Given the description of an element on the screen output the (x, y) to click on. 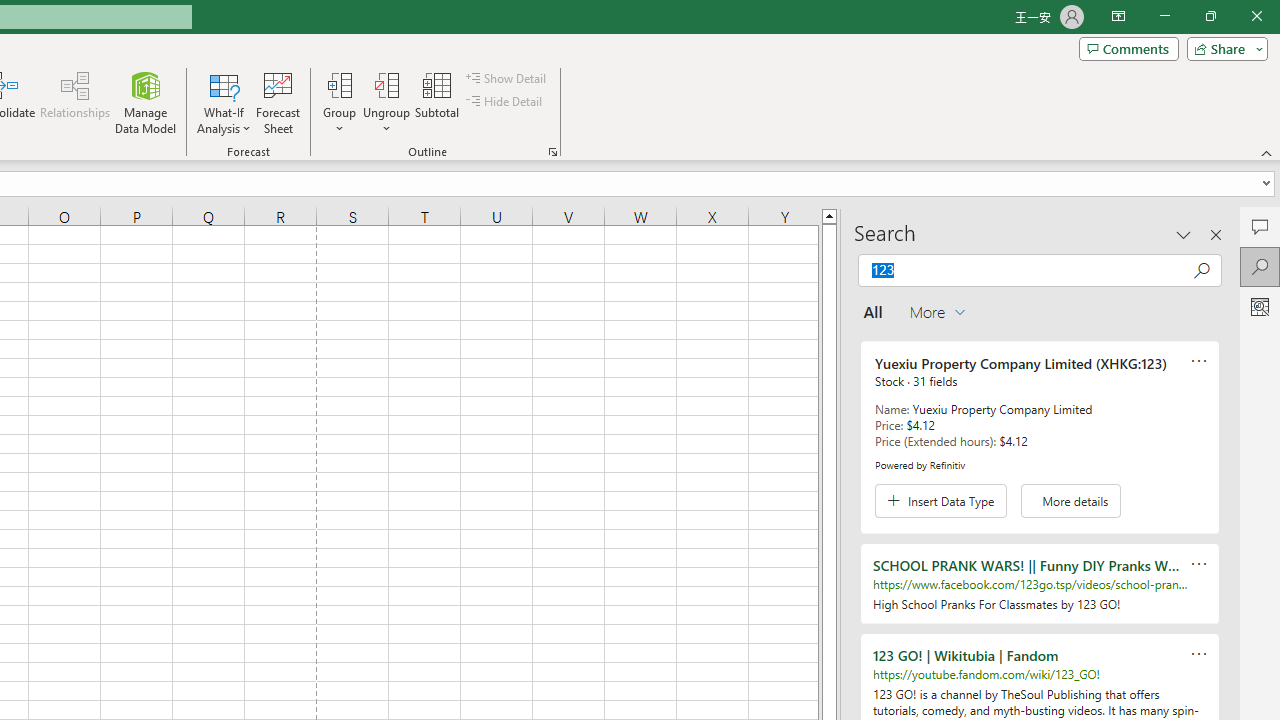
Show Detail (507, 78)
Relationships (75, 102)
Manage Data Model (145, 102)
